Given the description of an element on the screen output the (x, y) to click on. 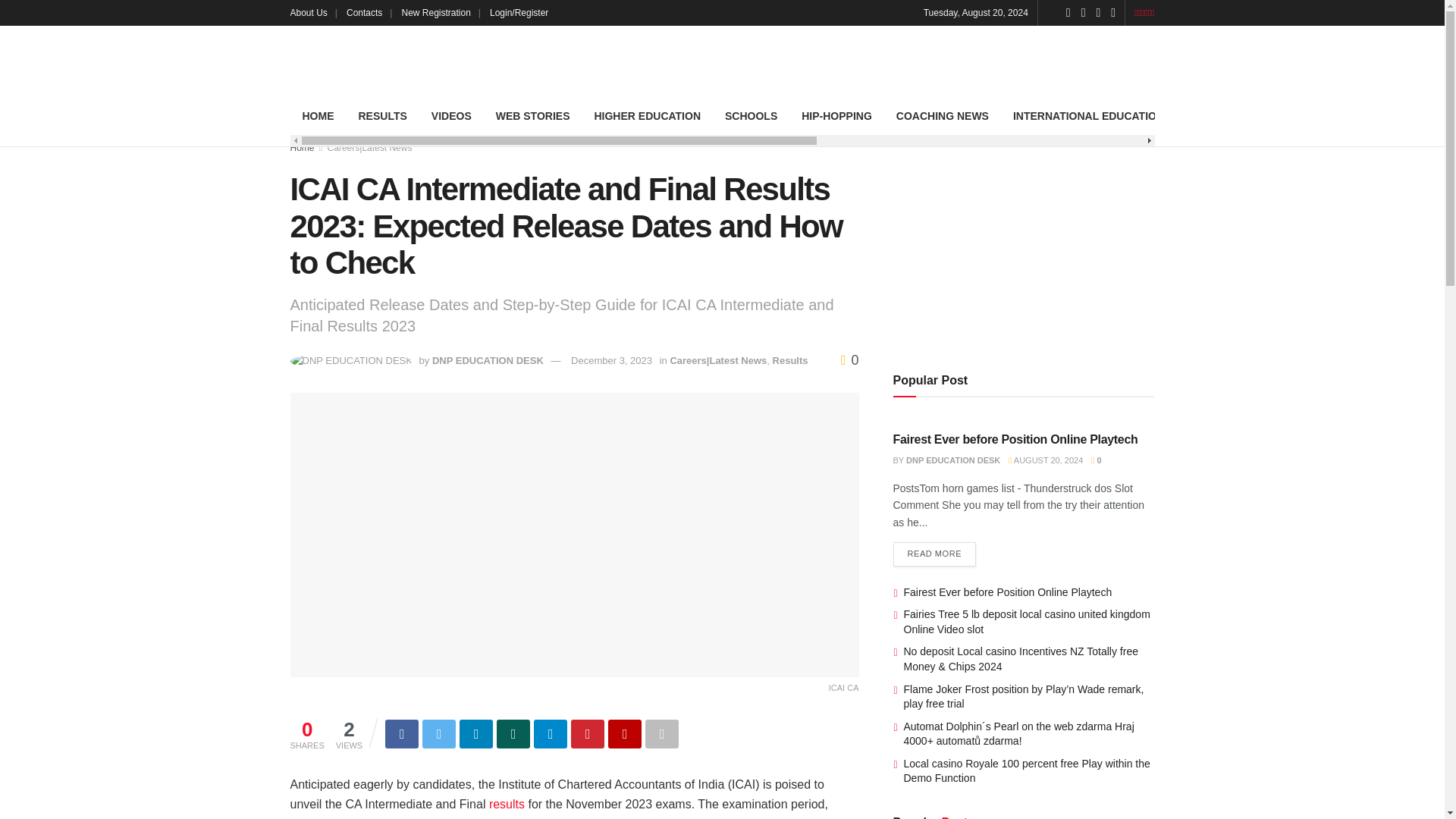
PATENTS (1336, 116)
SCHOOLS (751, 116)
HOME (317, 116)
Contacts (368, 12)
COACHING NEWS (942, 116)
HIP-HOPPING (836, 116)
TECH (1202, 116)
HIGHER EDUCATION (646, 116)
RESULTS (382, 116)
INTERNATIONAL EDUCATION (1088, 116)
